Given the description of an element on the screen output the (x, y) to click on. 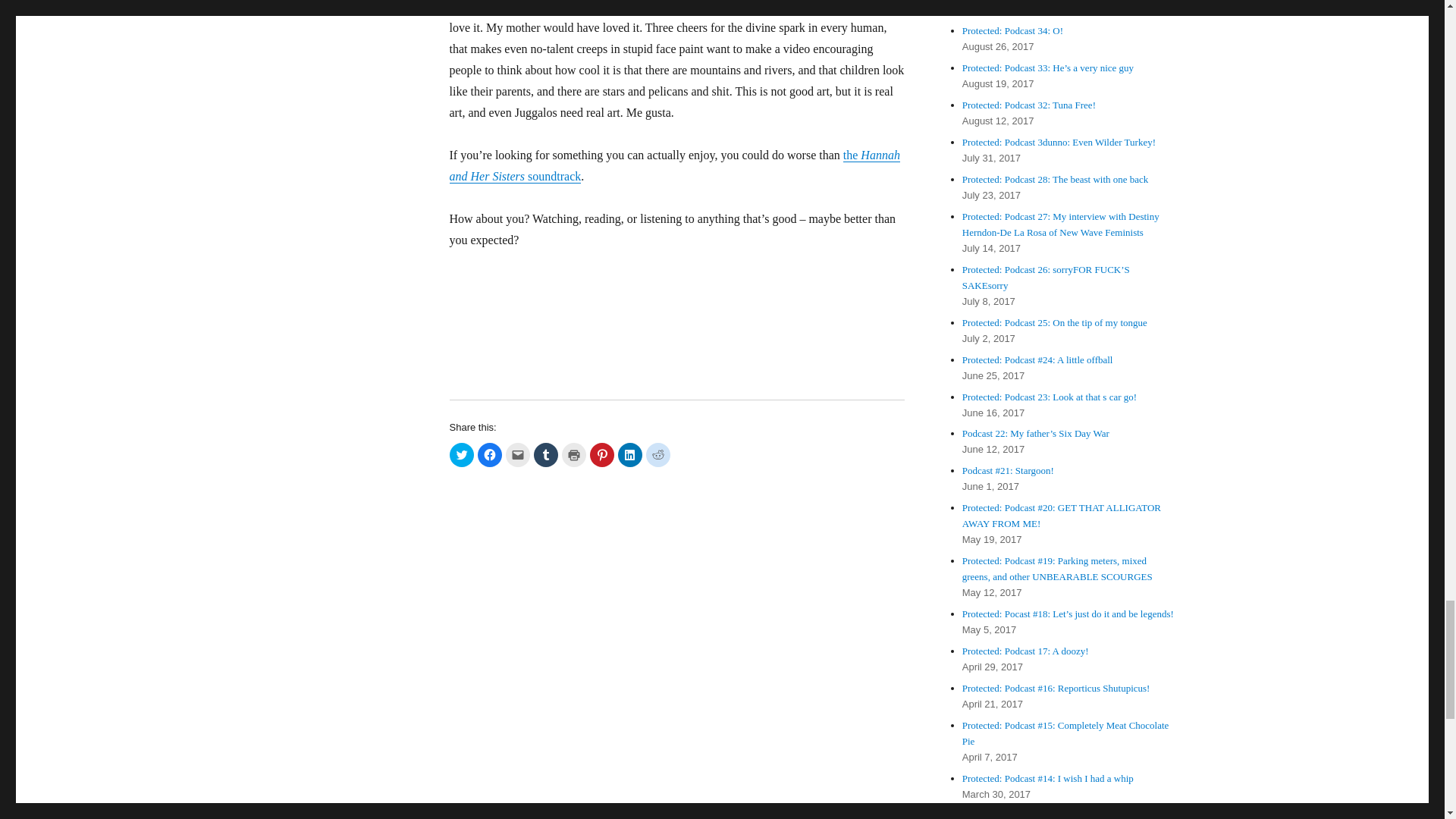
Click to share on Facebook (489, 454)
Click to share on Reddit (657, 454)
the Hannah and Her Sisters soundtrack (673, 165)
Click to email a link to a friend (517, 454)
Click to share on Pinterest (601, 454)
Click to print (572, 454)
Click to share on Twitter (460, 454)
Click to share on Tumblr (545, 454)
Click to share on LinkedIn (629, 454)
